Given the description of an element on the screen output the (x, y) to click on. 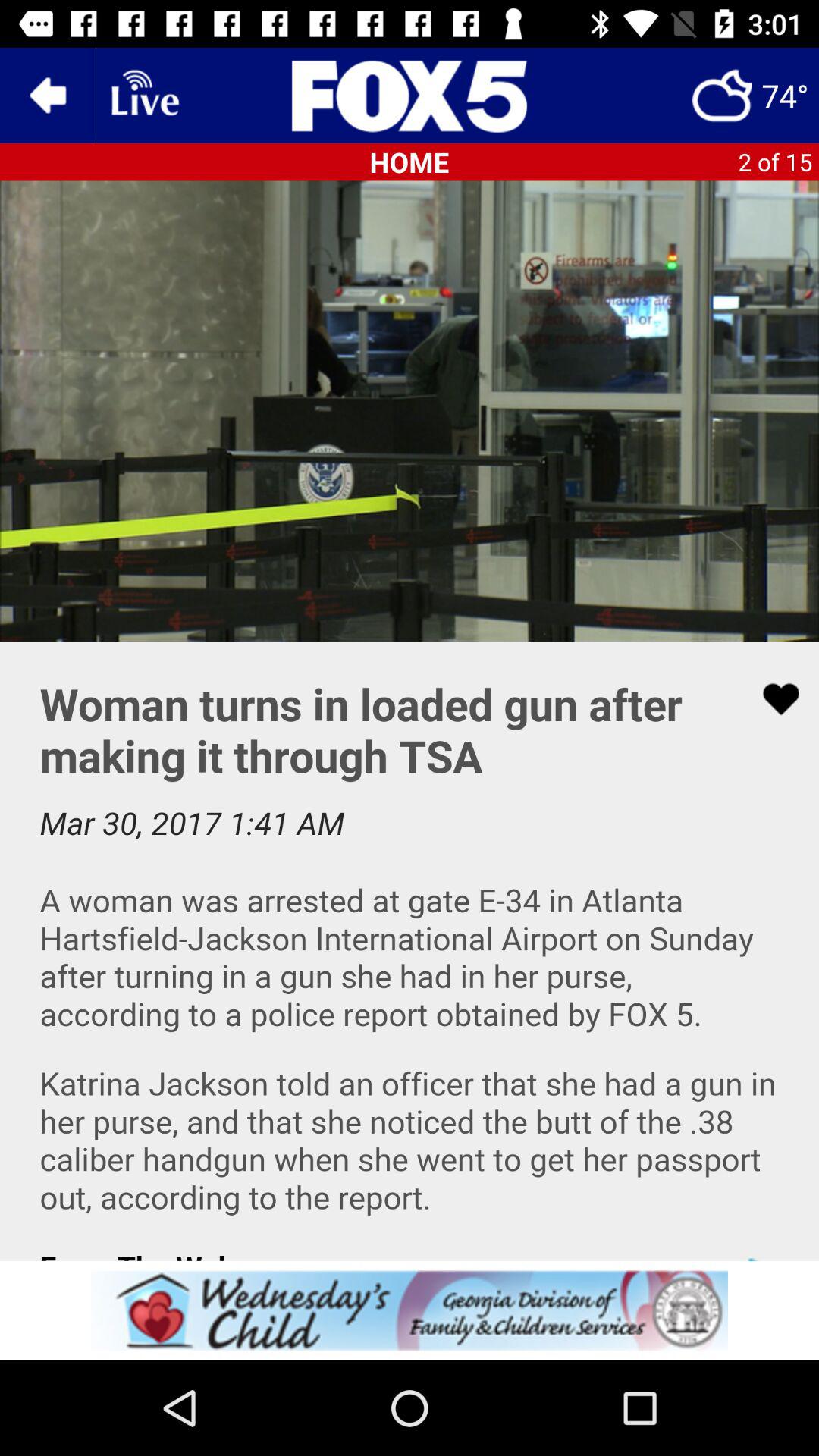
live news (143, 95)
